Given the description of an element on the screen output the (x, y) to click on. 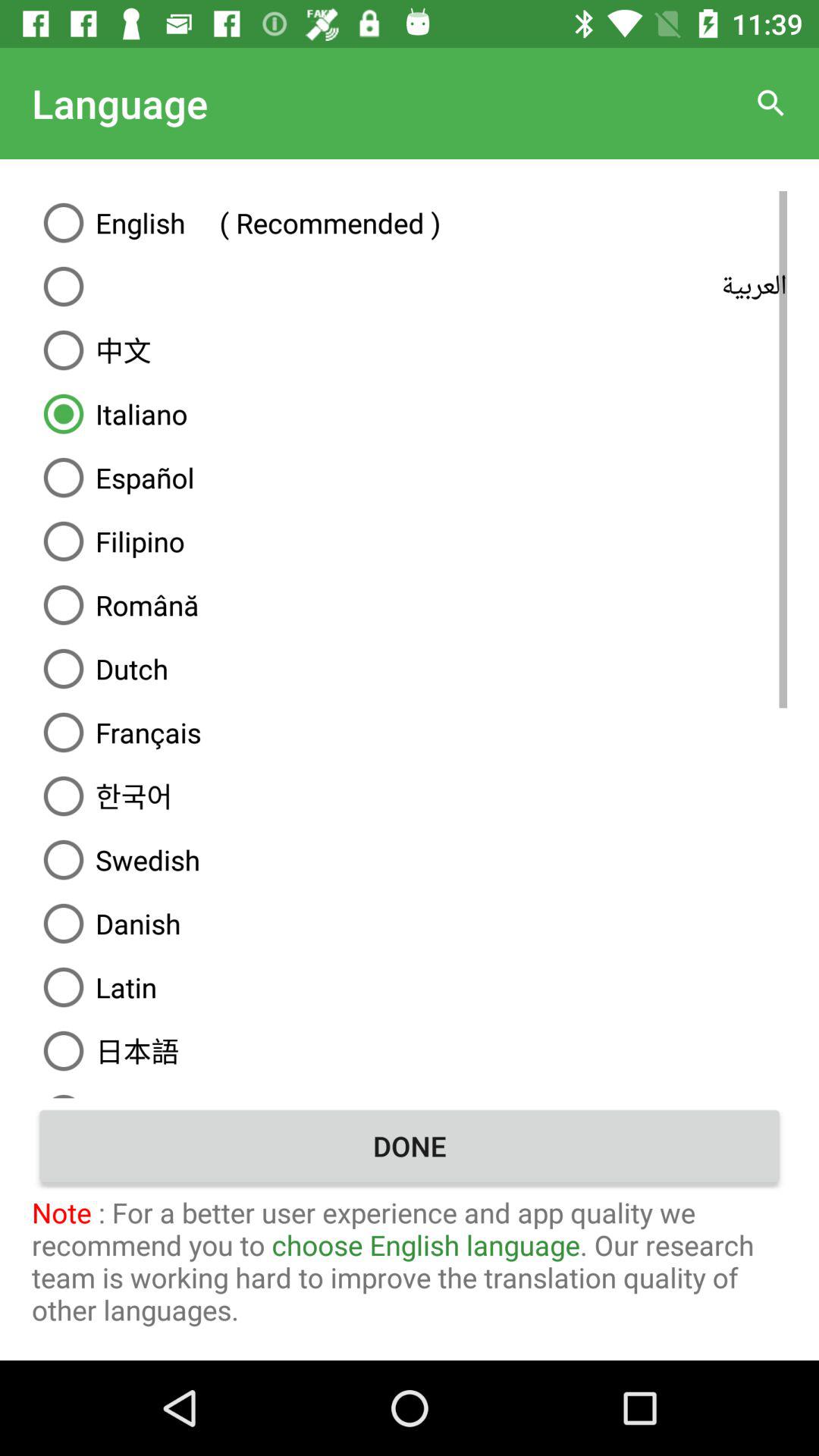
press icon below the danish (409, 987)
